Given the description of an element on the screen output the (x, y) to click on. 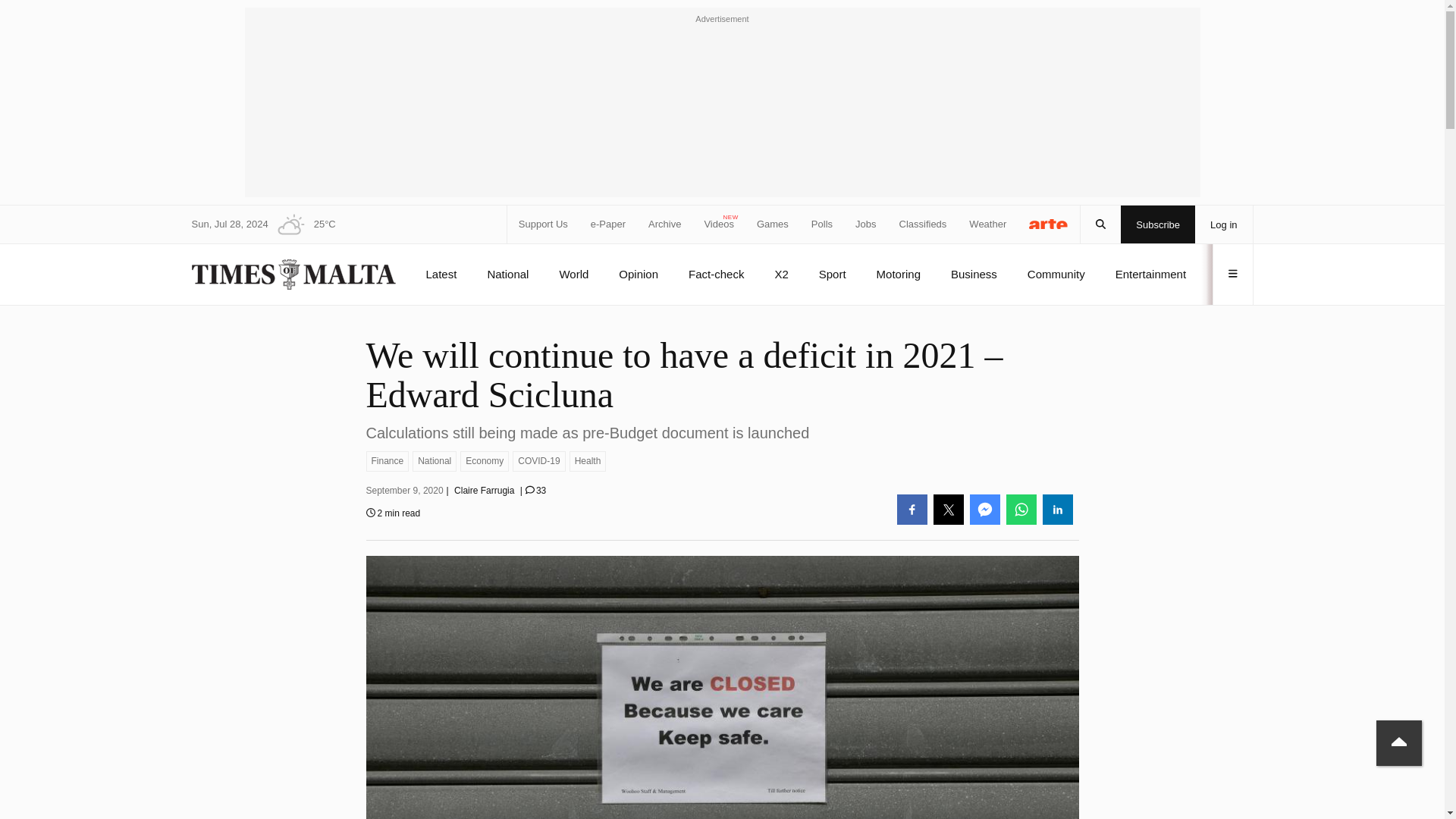
Weather (987, 224)
Community (1055, 274)
Claire Farrugia (483, 490)
ARTE (1048, 223)
Subscribe (1158, 224)
View more articles by Claire Farrugia (483, 490)
Additional weather information (301, 224)
Log in (1223, 224)
National (434, 461)
Economy (484, 461)
COVID-19 (538, 461)
33 (535, 490)
